Given the description of an element on the screen output the (x, y) to click on. 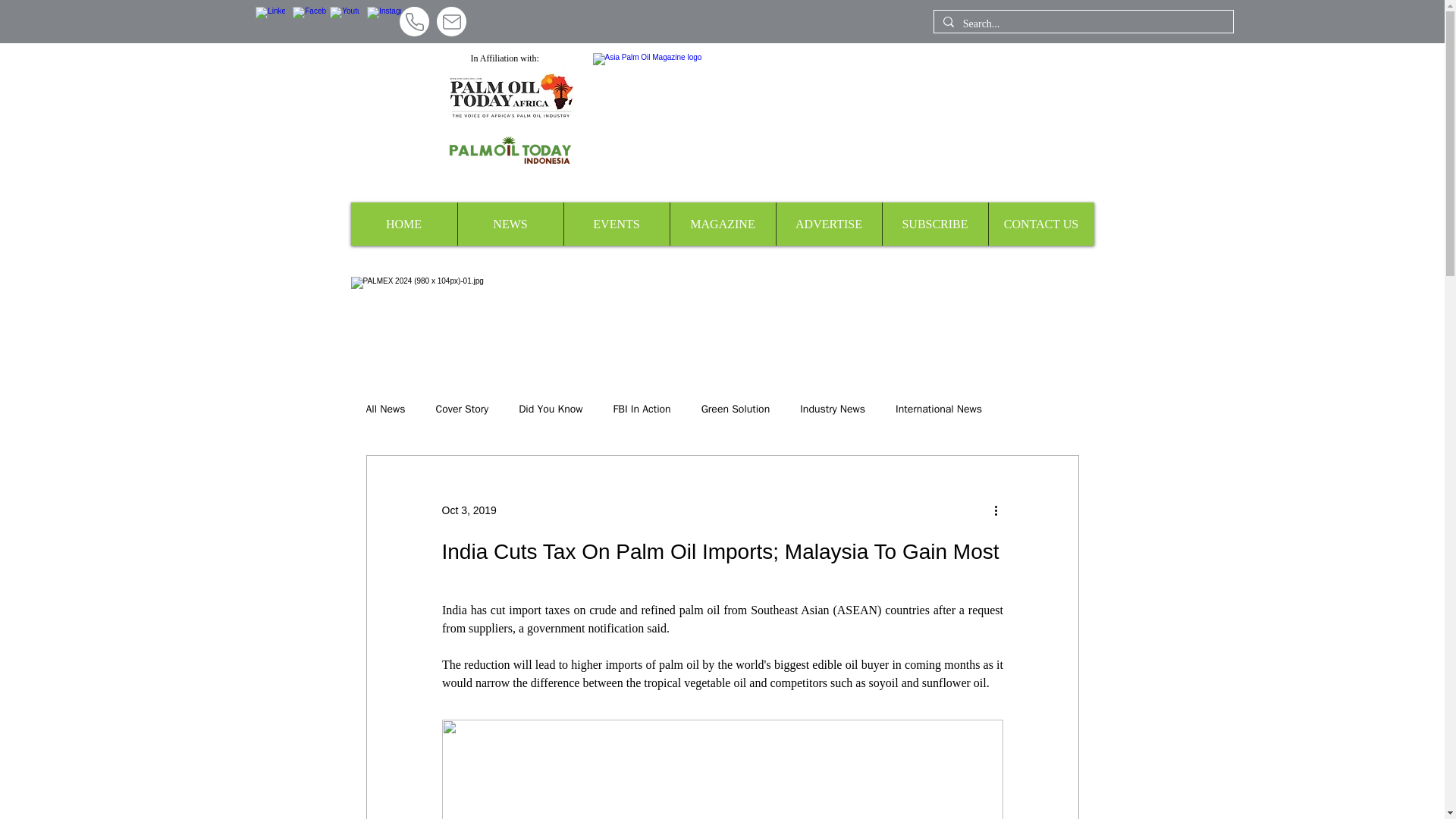
EVENTS (615, 223)
Green Solution (735, 409)
SUBSCRIBE (933, 223)
FBI In Action (641, 409)
Cover Story (462, 409)
MAGAZINE (721, 223)
CONTACT US (1040, 223)
NEWS (509, 223)
HOME (403, 223)
ADVERTISE (827, 223)
